Given the description of an element on the screen output the (x, y) to click on. 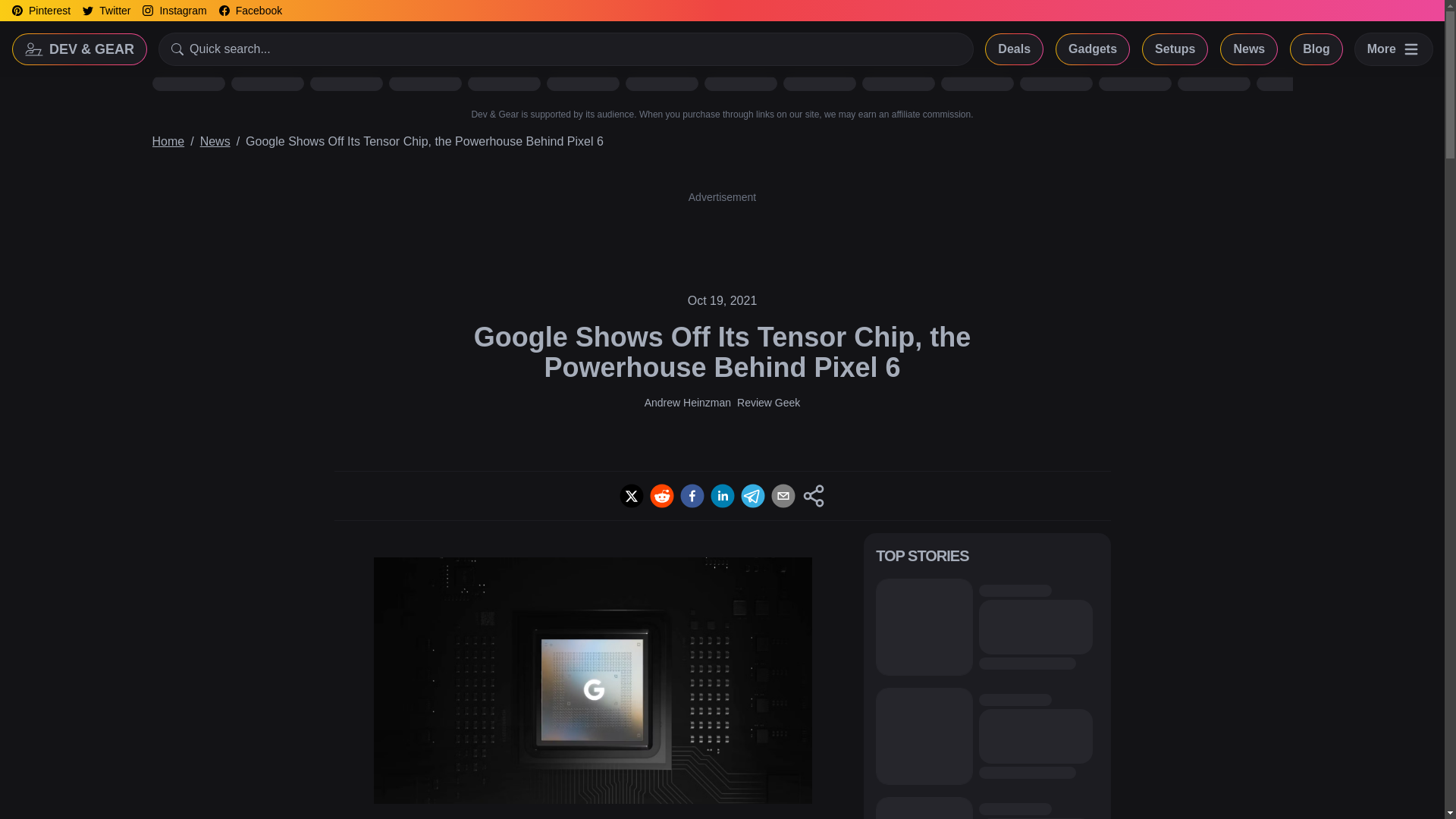
More (1393, 49)
Instagram (174, 10)
Setups (1174, 49)
Home (167, 141)
Deals (1013, 49)
Twitter (106, 10)
Gadgets (1093, 49)
Pinterest (40, 10)
Quick search... (565, 49)
Blog (1316, 49)
News (215, 141)
Facebook (250, 10)
